Given the description of an element on the screen output the (x, y) to click on. 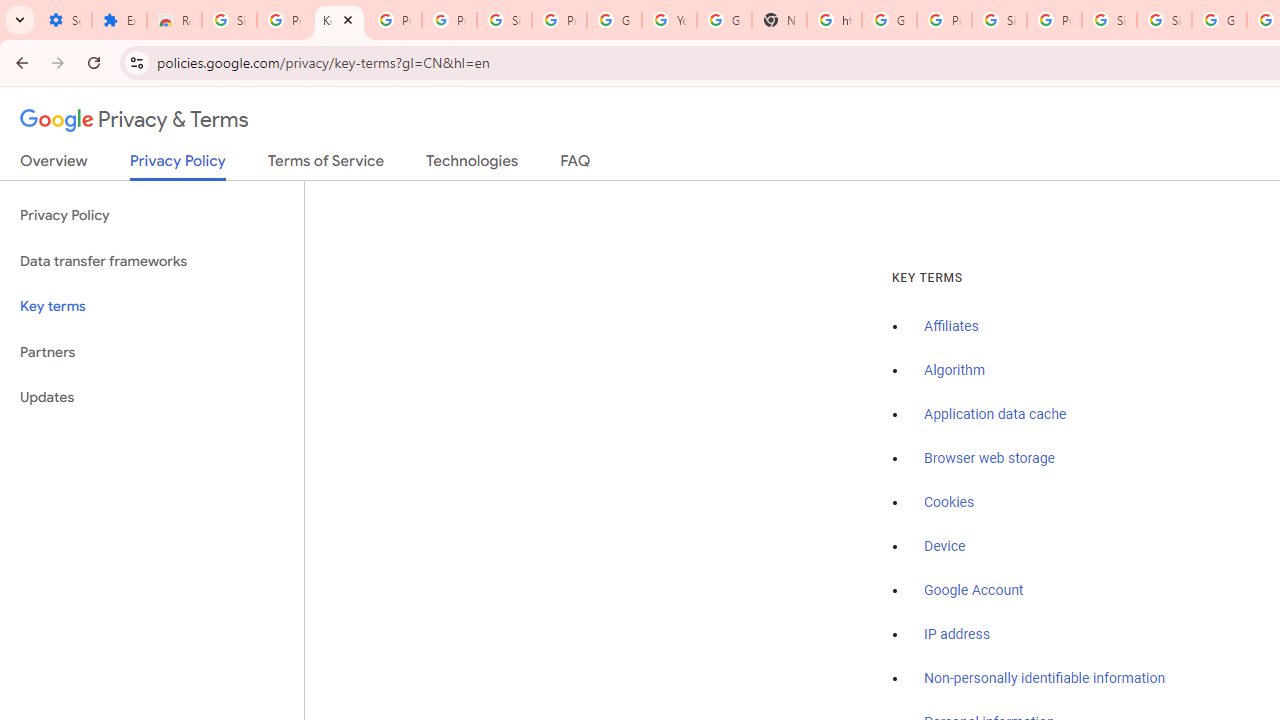
https://scholar.google.com/ (833, 20)
Sign in - Google Accounts (1108, 20)
Settings - On startup (64, 20)
